Given the description of an element on the screen output the (x, y) to click on. 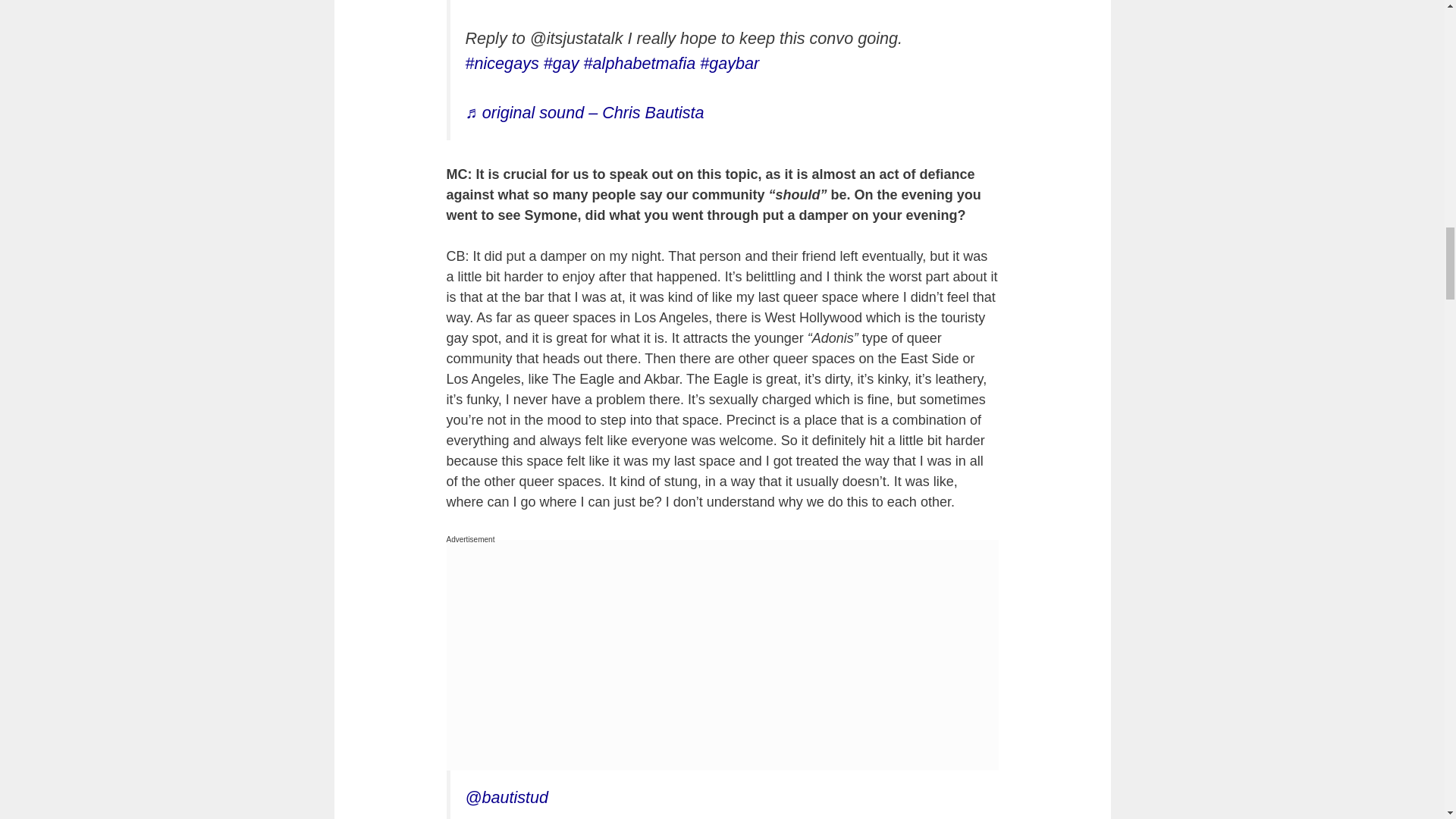
gay (561, 63)
gaybar (729, 63)
nicegays (501, 63)
alphabetmafia (639, 63)
